Given the description of an element on the screen output the (x, y) to click on. 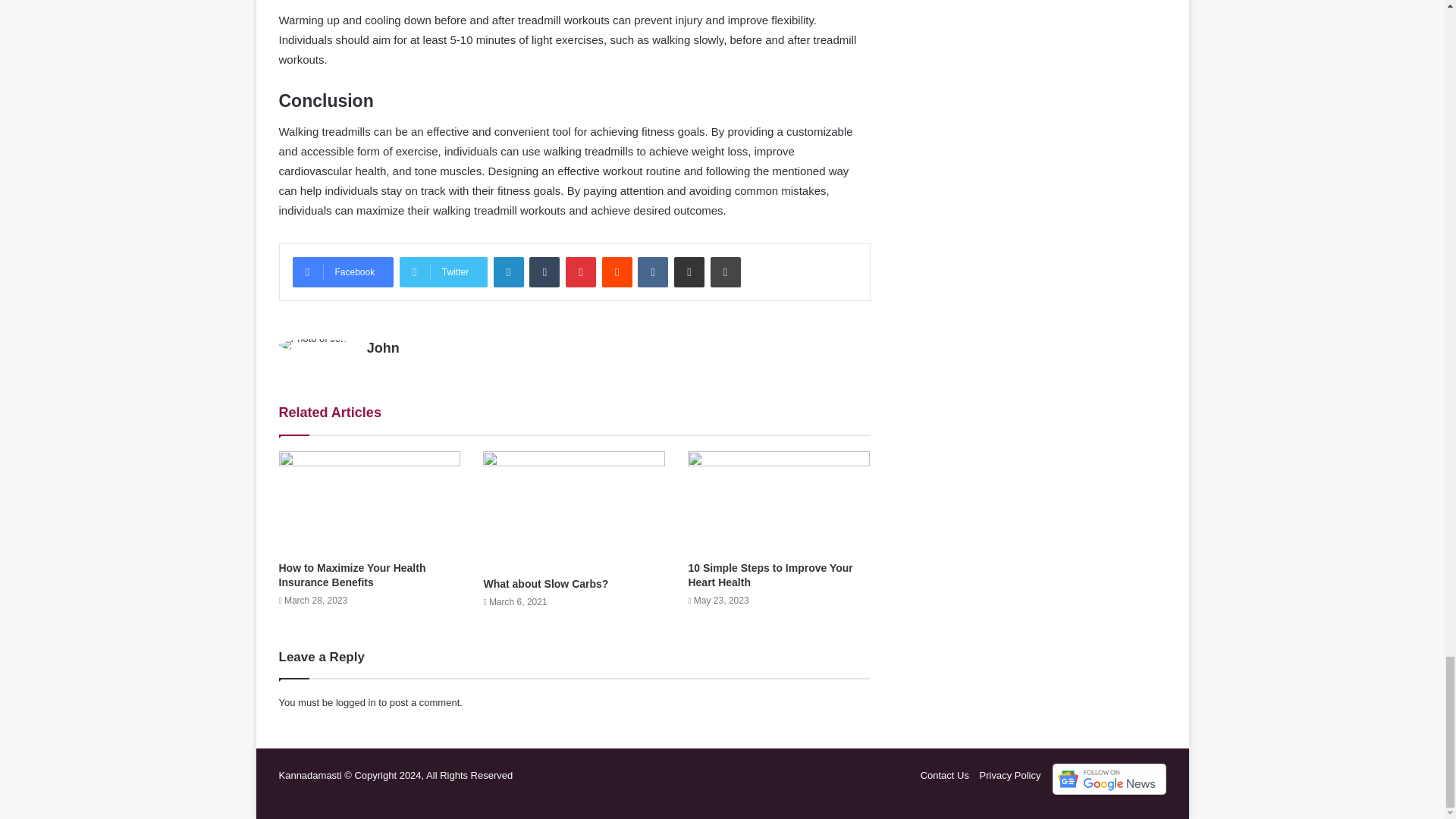
10 Simple Steps to Improve Your Heart Health (769, 574)
Twitter (442, 272)
Tumblr (544, 272)
Pinterest (580, 272)
Reddit (616, 272)
LinkedIn (508, 272)
Tumblr (544, 272)
John (382, 347)
Pinterest (580, 272)
How to Maximize Your Health Insurance Benefits (352, 574)
